Given the description of an element on the screen output the (x, y) to click on. 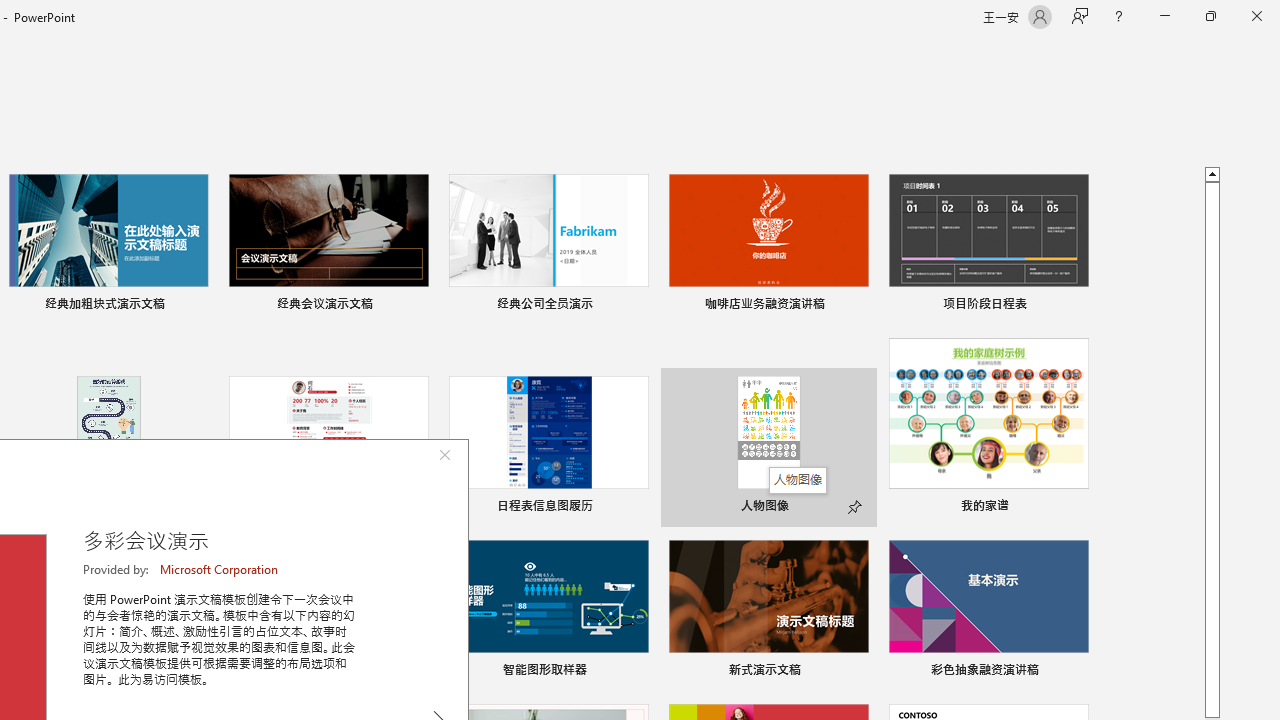
Pin to list (1075, 671)
Microsoft Corporation (220, 569)
